Given the description of an element on the screen output the (x, y) to click on. 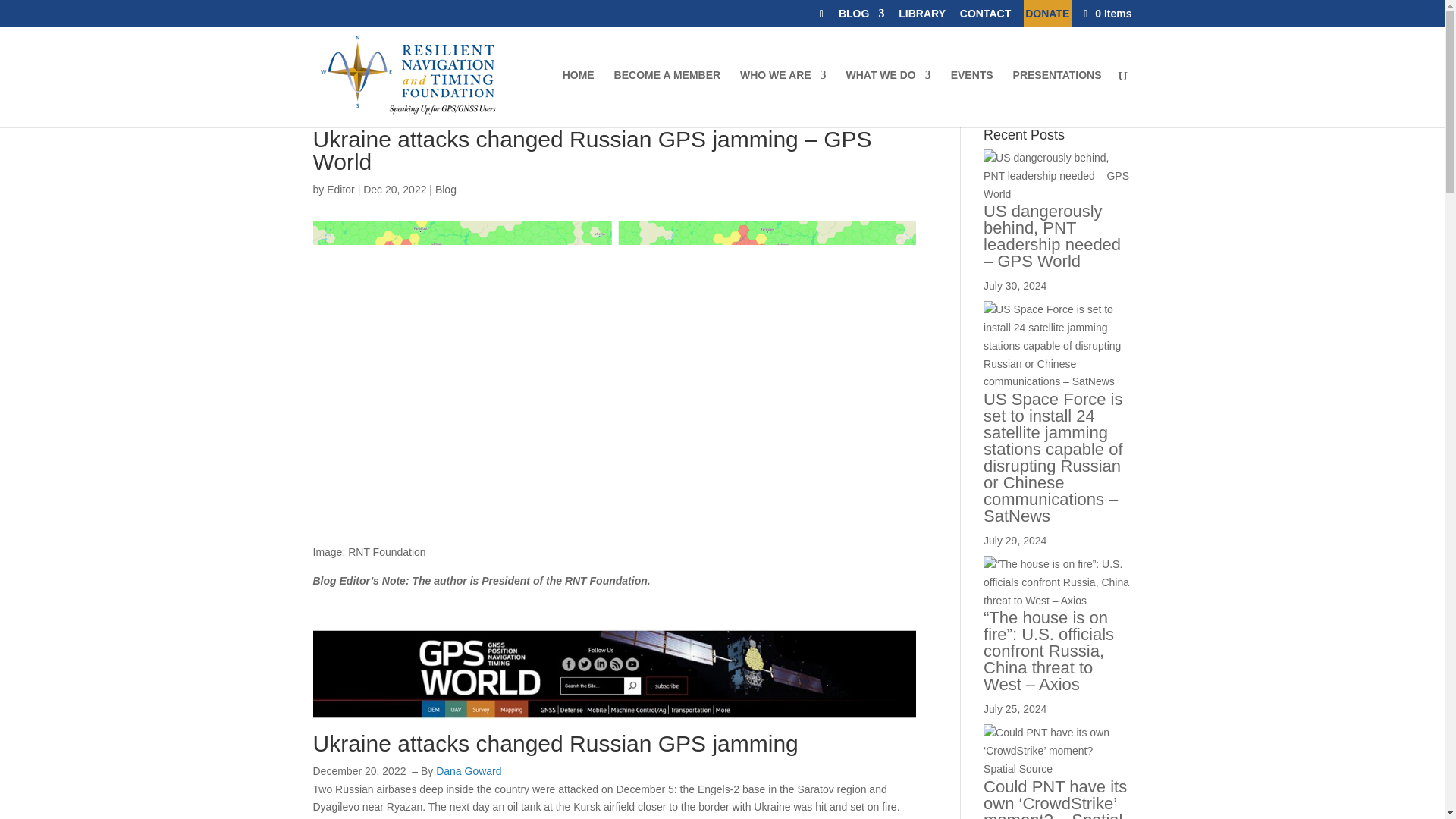
Dana Goward (467, 770)
CONTACT (984, 16)
Editor (340, 189)
BLOG (860, 16)
WHO WE ARE (783, 98)
Blog (446, 189)
DONATE (1046, 16)
0 Items (1105, 13)
Posts by Editor (340, 189)
WHAT WE DO (887, 98)
PRESENTATIONS (1057, 98)
Posts by Dana Goward (467, 770)
BECOME A MEMBER (667, 98)
LIBRARY (921, 16)
